Given the description of an element on the screen output the (x, y) to click on. 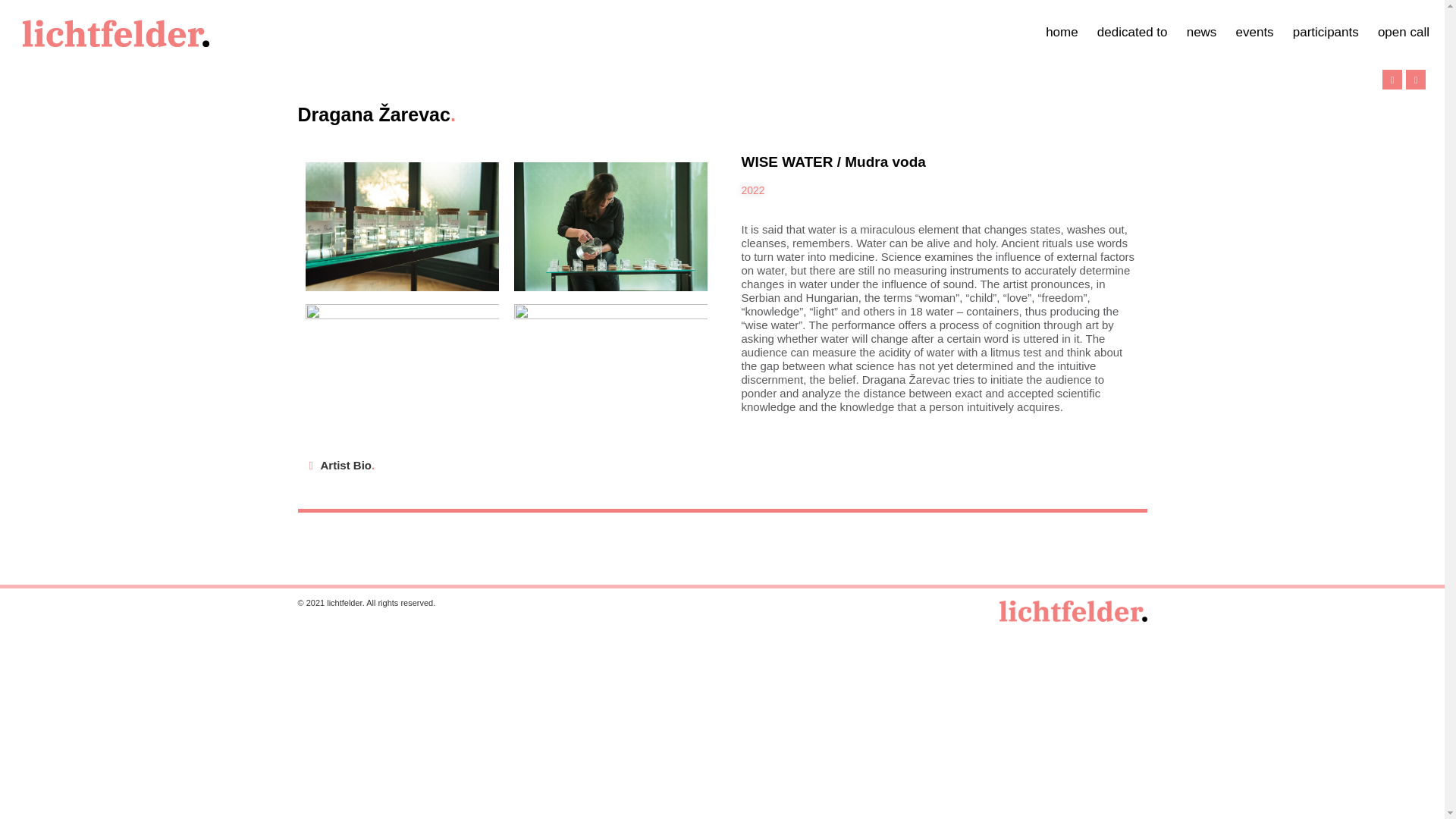
Artist Bio. (347, 464)
events (1255, 32)
participants (1325, 32)
news (1201, 32)
home (1061, 32)
open call (1403, 32)
dedicated to (1132, 32)
